Given the description of an element on the screen output the (x, y) to click on. 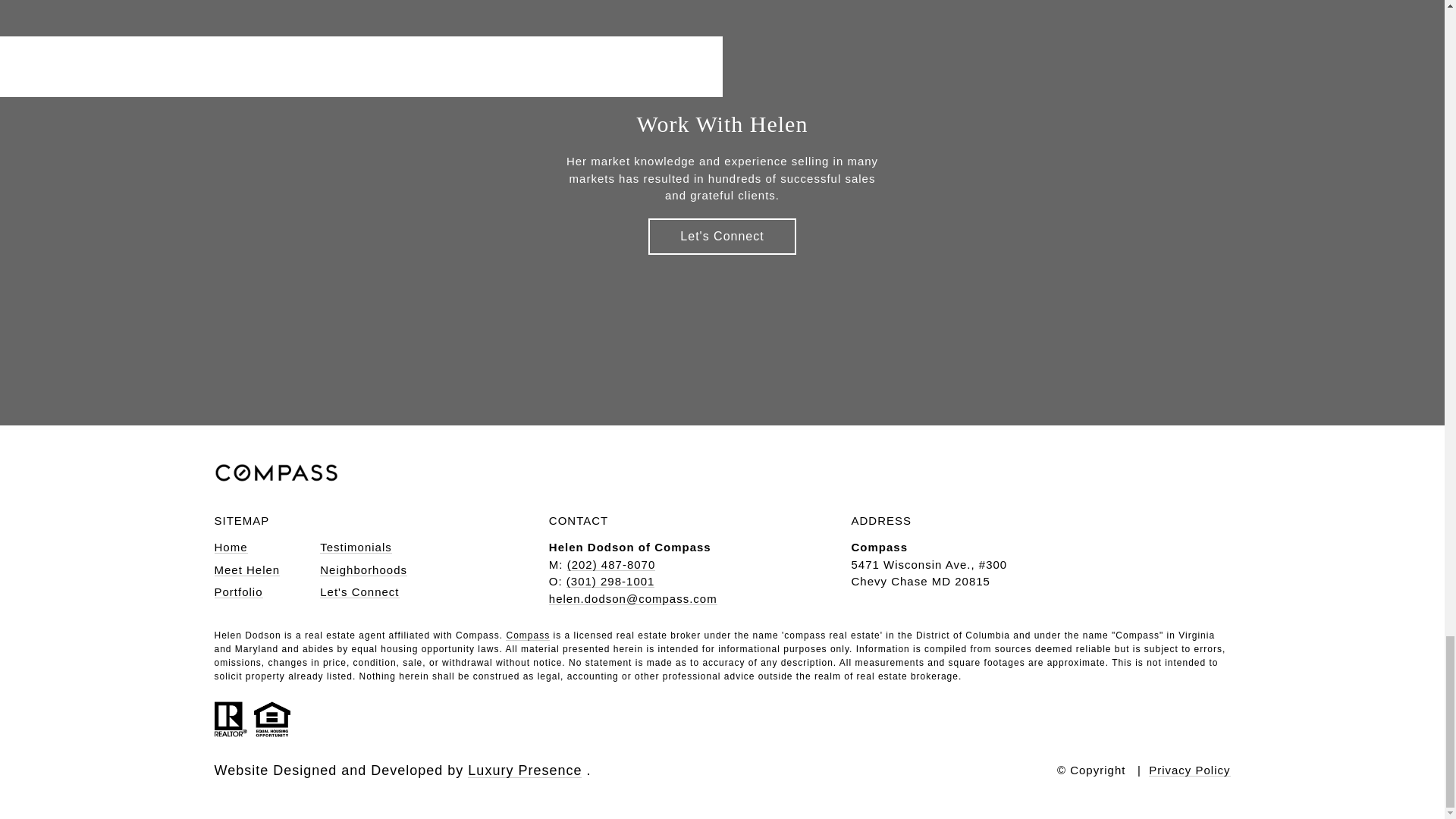
Meet Helen (246, 569)
Home (230, 546)
Portfolio (238, 591)
Testimonials (355, 546)
tel:2024878070 (611, 563)
tel:3012981001 (610, 581)
Let's Connect (720, 236)
